Given the description of an element on the screen output the (x, y) to click on. 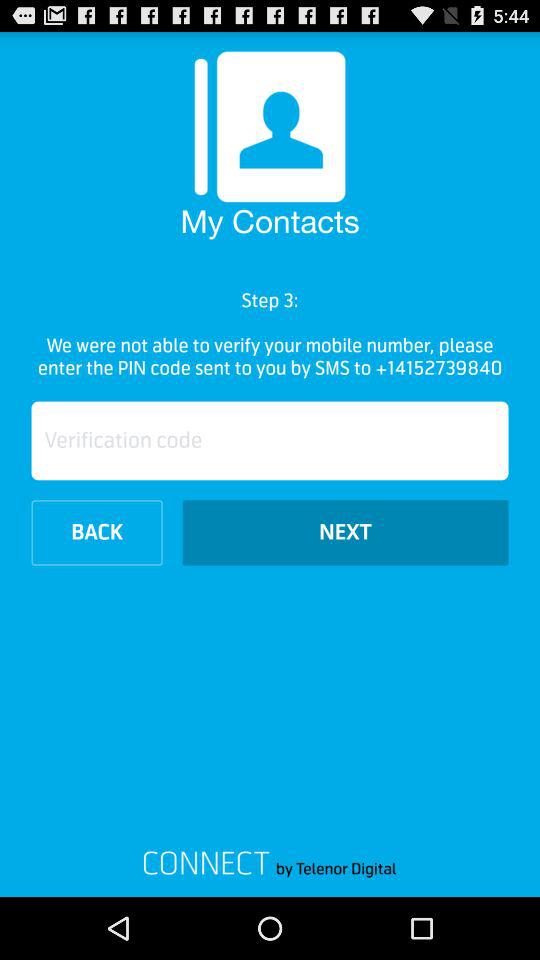
turn on item to the right of the back (345, 532)
